Given the description of an element on the screen output the (x, y) to click on. 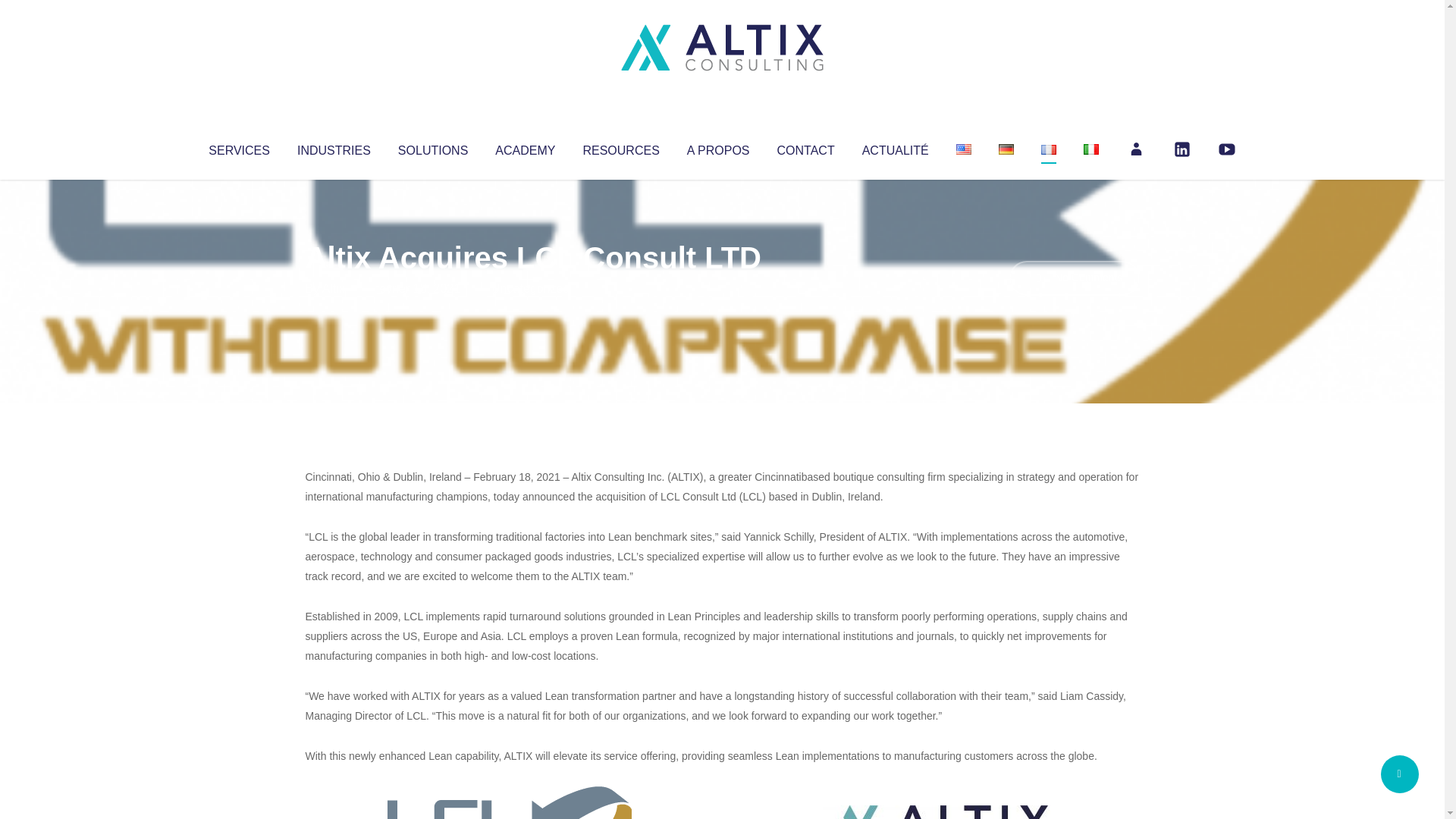
ACADEMY (524, 146)
INDUSTRIES (334, 146)
No Comments (1073, 278)
Articles par Altix (333, 287)
SOLUTIONS (432, 146)
RESOURCES (620, 146)
A PROPOS (718, 146)
Altix (333, 287)
Uncategorized (530, 287)
SERVICES (238, 146)
